Given the description of an element on the screen output the (x, y) to click on. 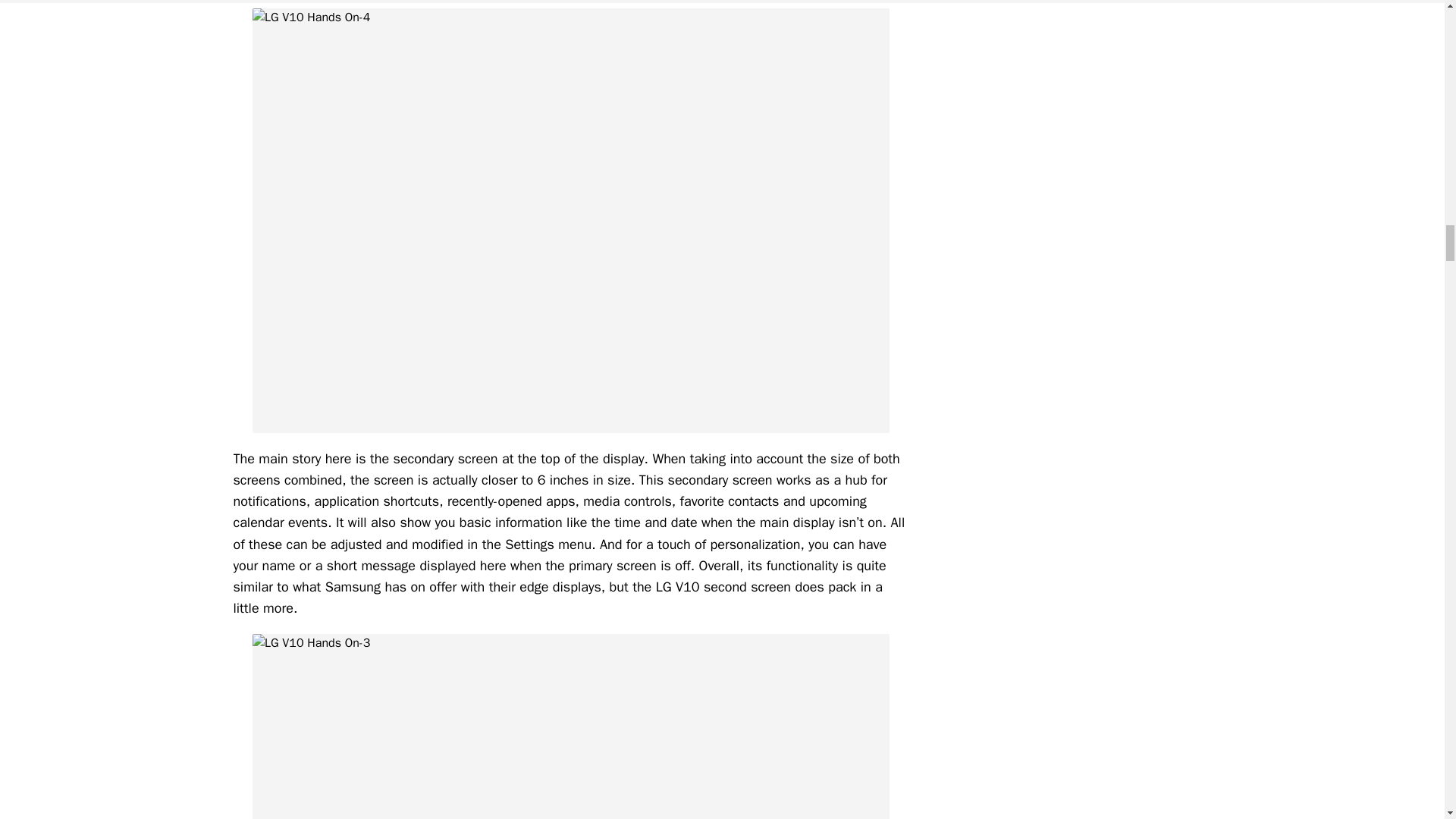
LG V10 Hands On-3 (569, 726)
